Given the description of an element on the screen output the (x, y) to click on. 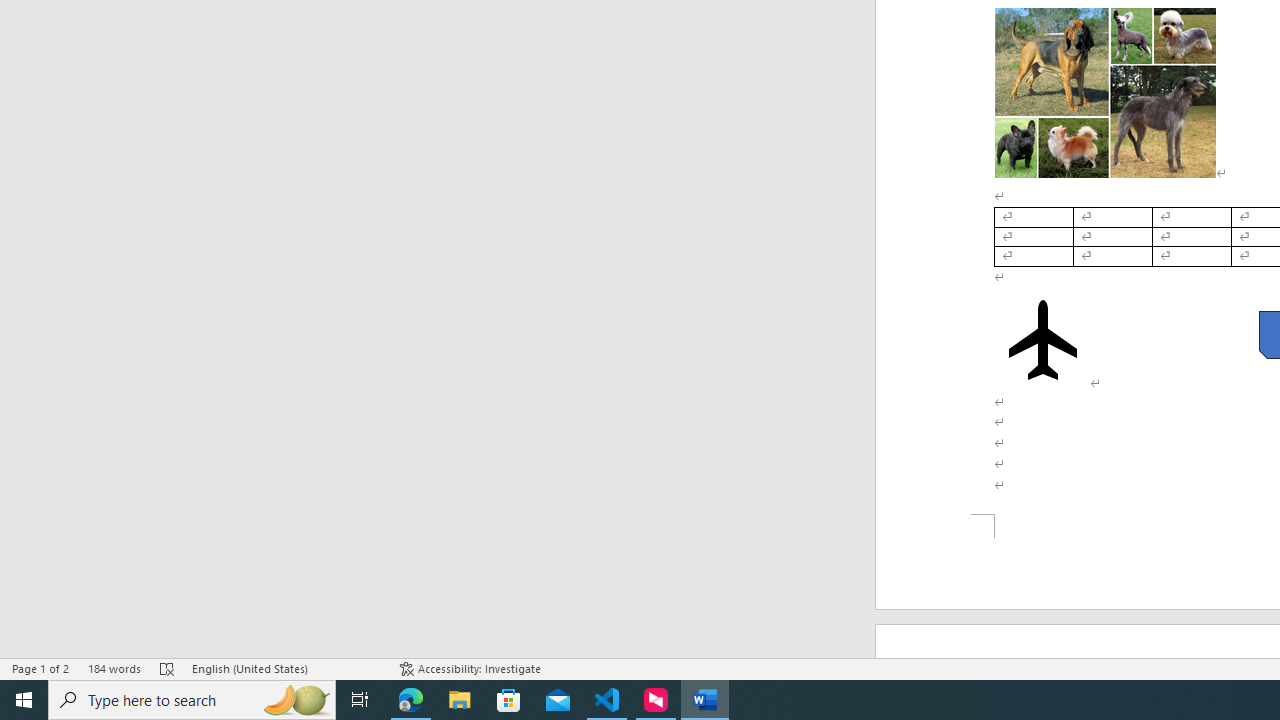
Page Number Page 1 of 2 (39, 668)
Airplane with solid fill (1042, 340)
